Given the description of an element on the screen output the (x, y) to click on. 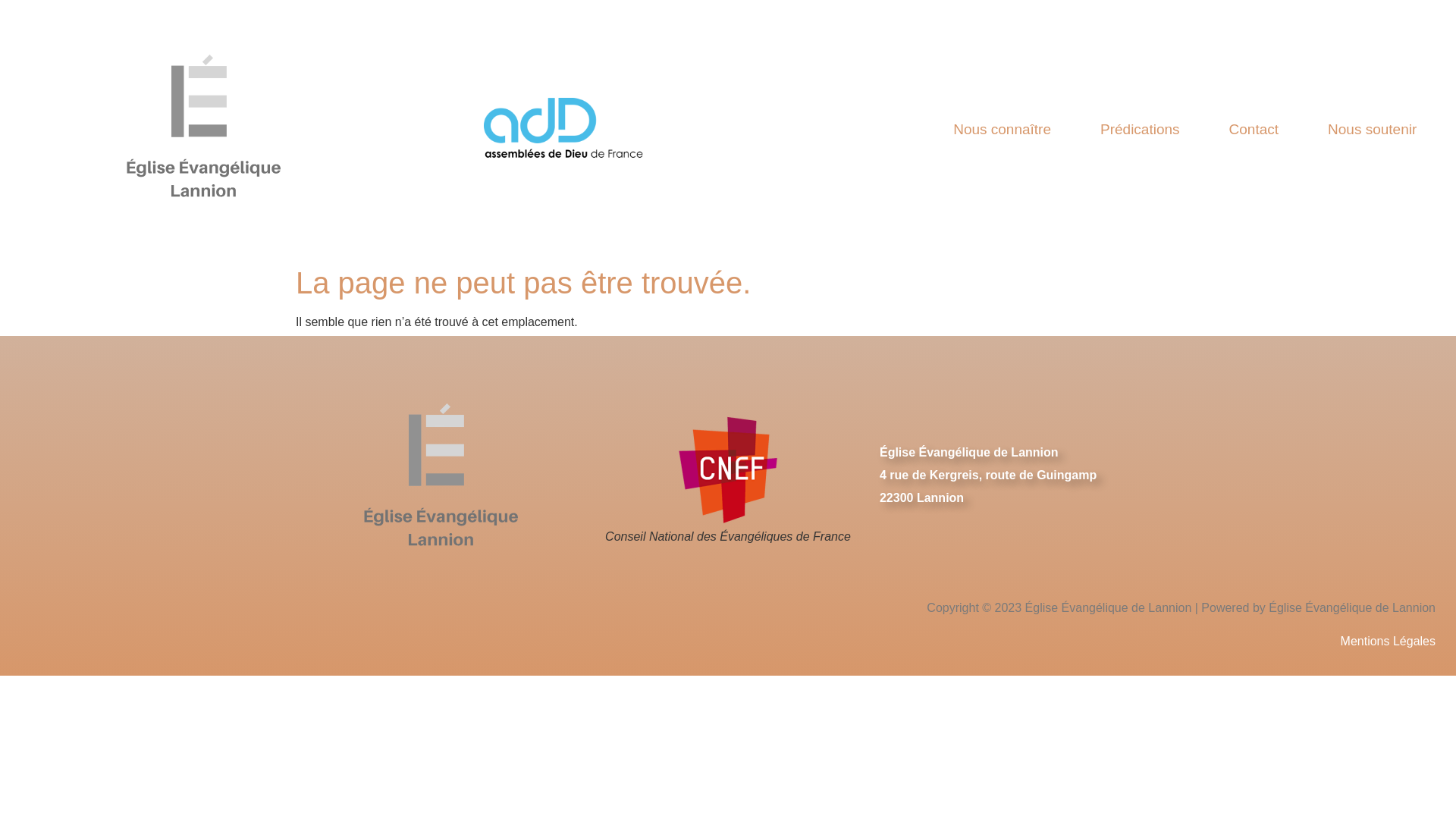
Nous soutenir Element type: text (1371, 128)
Contact Element type: text (1253, 128)
